Given the description of an element on the screen output the (x, y) to click on. 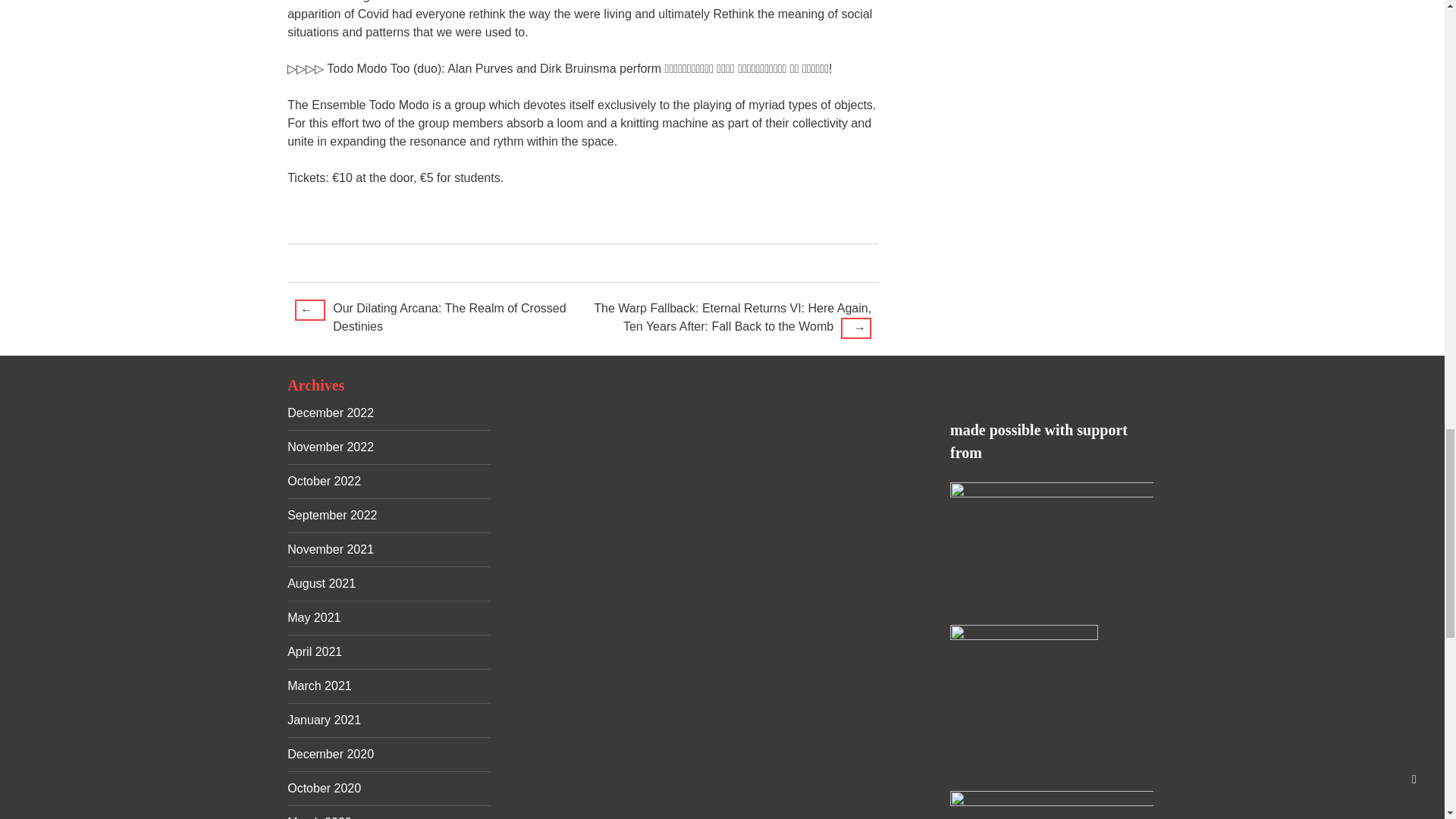
March 2020 (319, 817)
August 2021 (320, 583)
January 2021 (323, 719)
December 2022 (330, 412)
March 2021 (319, 685)
October 2022 (323, 481)
April 2021 (314, 651)
December 2020 (330, 753)
October 2020 (323, 788)
May 2021 (313, 617)
September 2022 (331, 514)
November 2021 (330, 549)
November 2022 (330, 446)
